Given the description of an element on the screen output the (x, y) to click on. 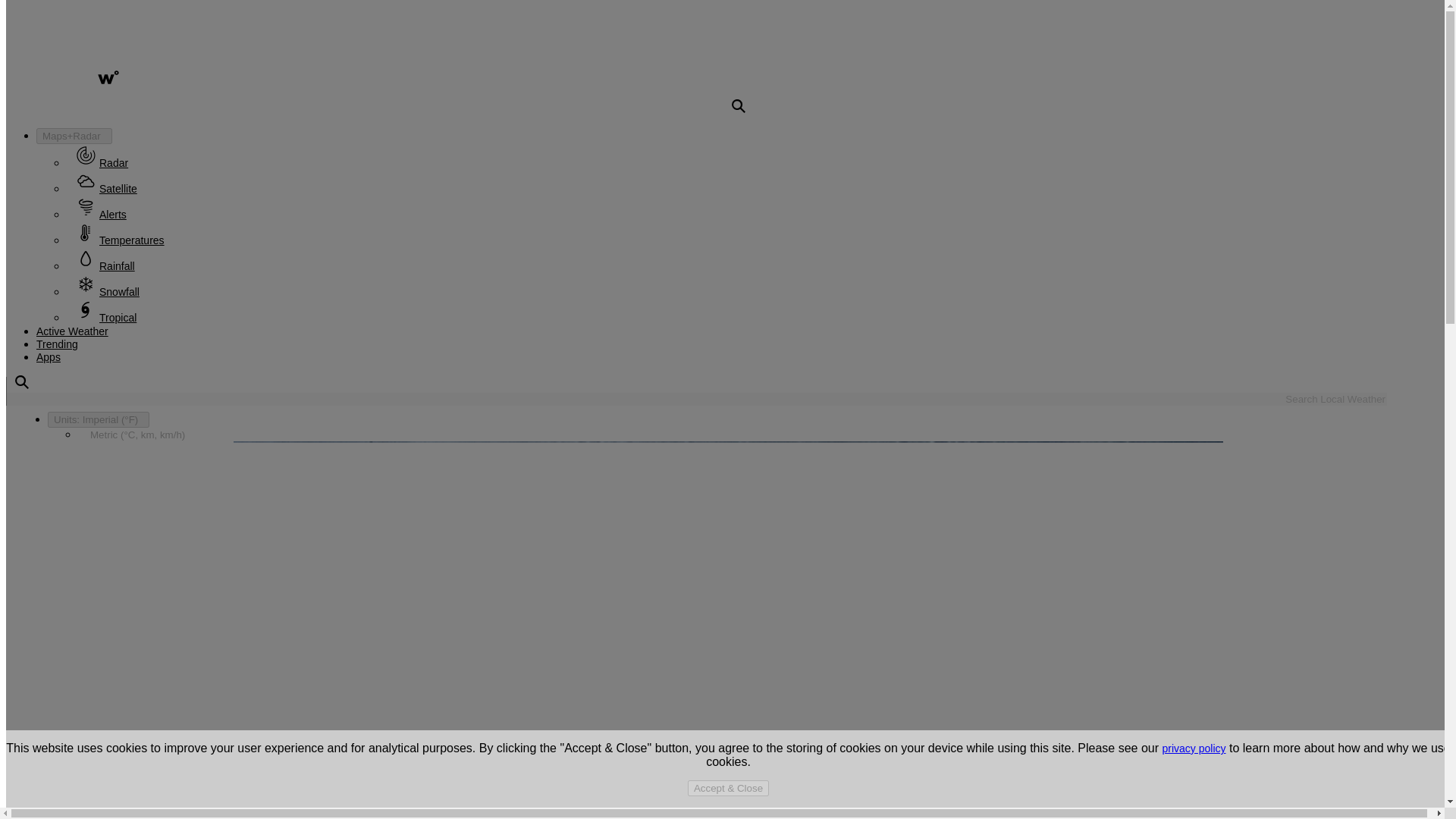
Tropical (108, 317)
Temperatures (122, 239)
Radar (104, 162)
Satellite (109, 188)
Snowfall (110, 291)
Rainfall (107, 265)
Alerts (103, 214)
privacy policy (1193, 748)
